Given the description of an element on the screen output the (x, y) to click on. 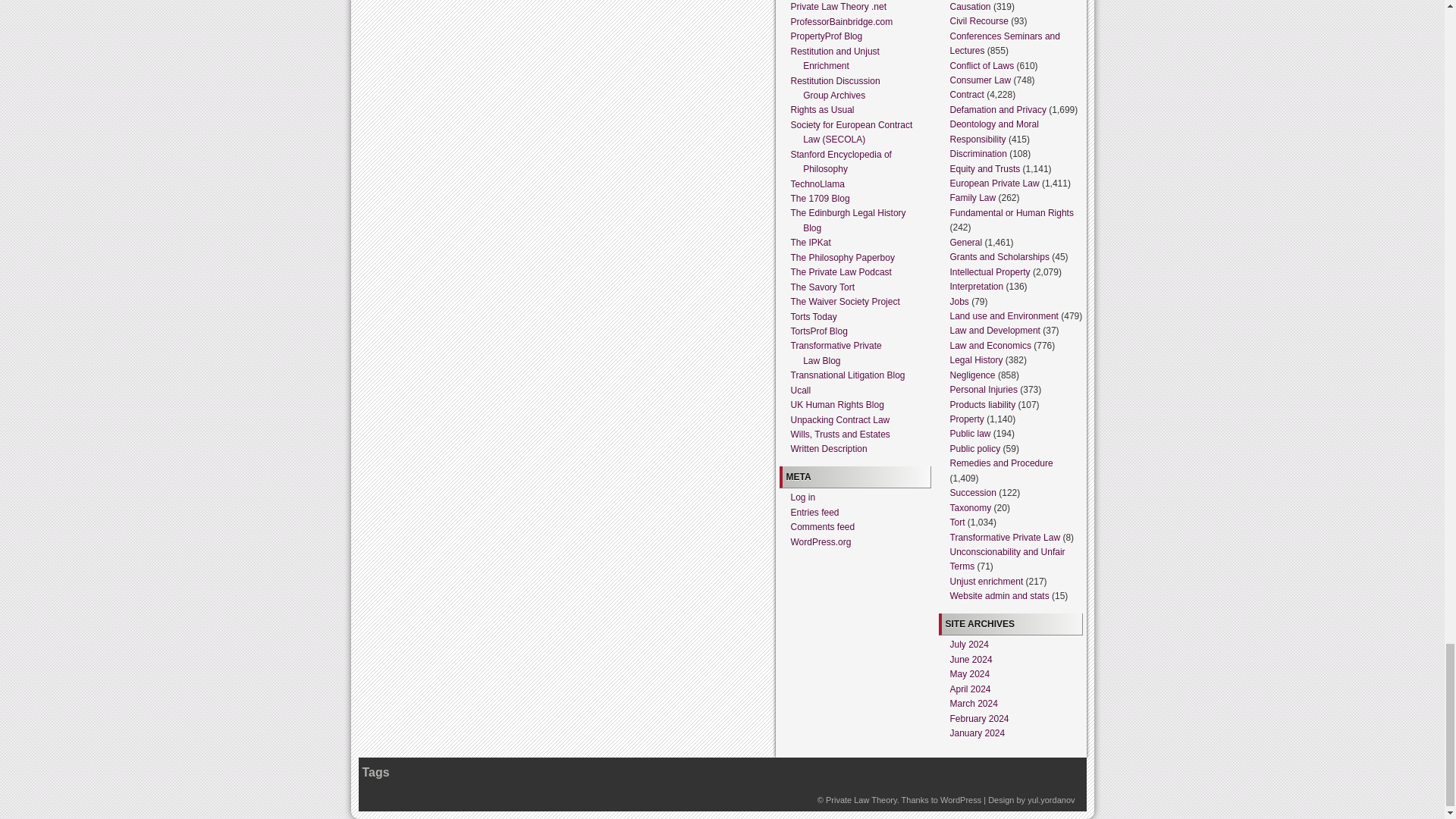
Obligations, Property, Legal Theory (860, 799)
